Given the description of an element on the screen output the (x, y) to click on. 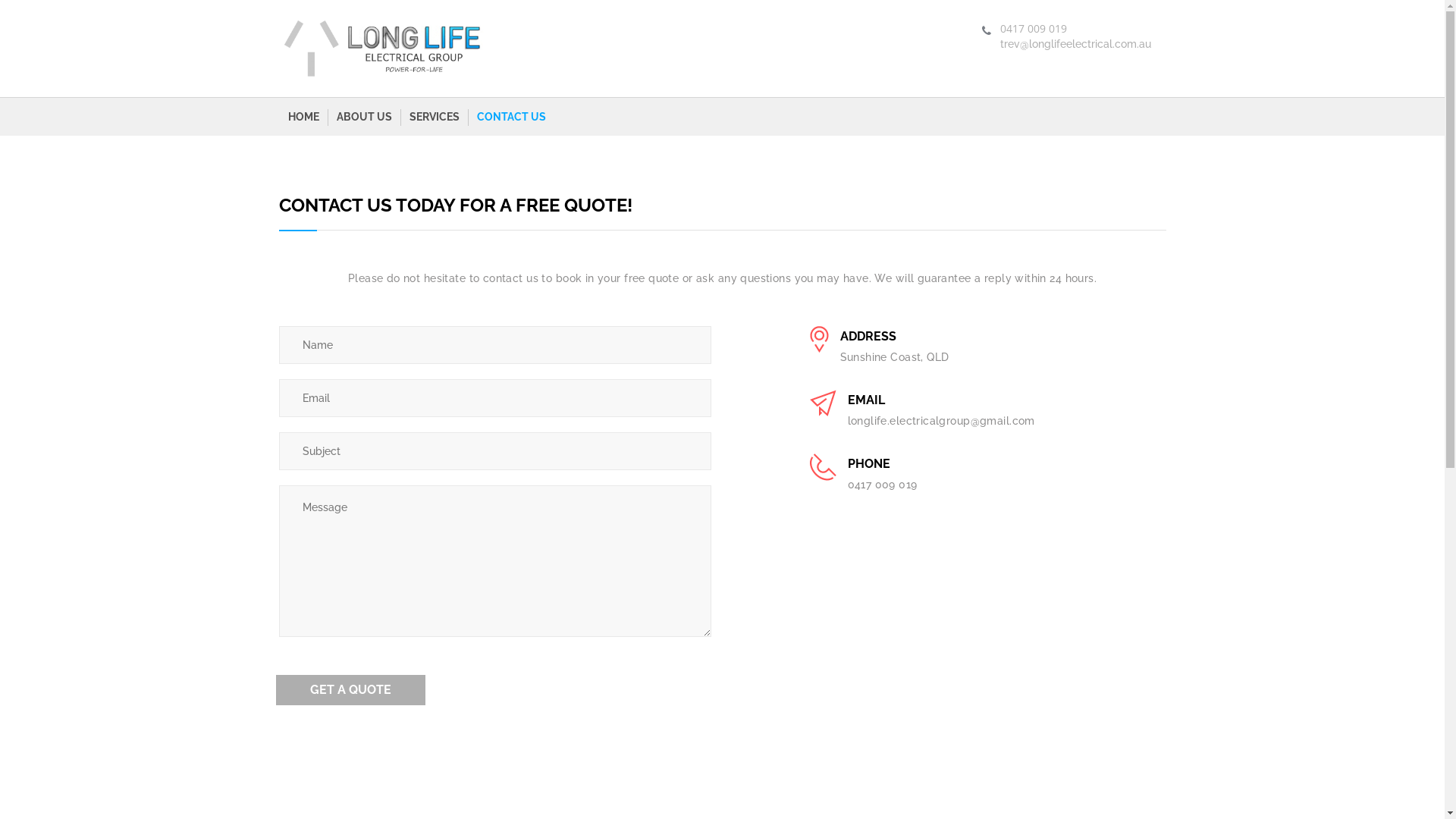
0417 009 019 Element type: text (954, 484)
Get A Quote Element type: text (350, 689)
CONTACT US Element type: text (510, 116)
HOME Element type: text (303, 116)
0417 009 019 Element type: text (1032, 28)
longlife.electricalgroup@gmail.com Element type: text (954, 420)
SERVICES Element type: text (434, 116)
trev@longlifeelectrical.com.au Element type: text (1074, 43)
ABOUT US Element type: text (364, 116)
Sunshine Coast Electrician Element type: hover (381, 47)
